Given the description of an element on the screen output the (x, y) to click on. 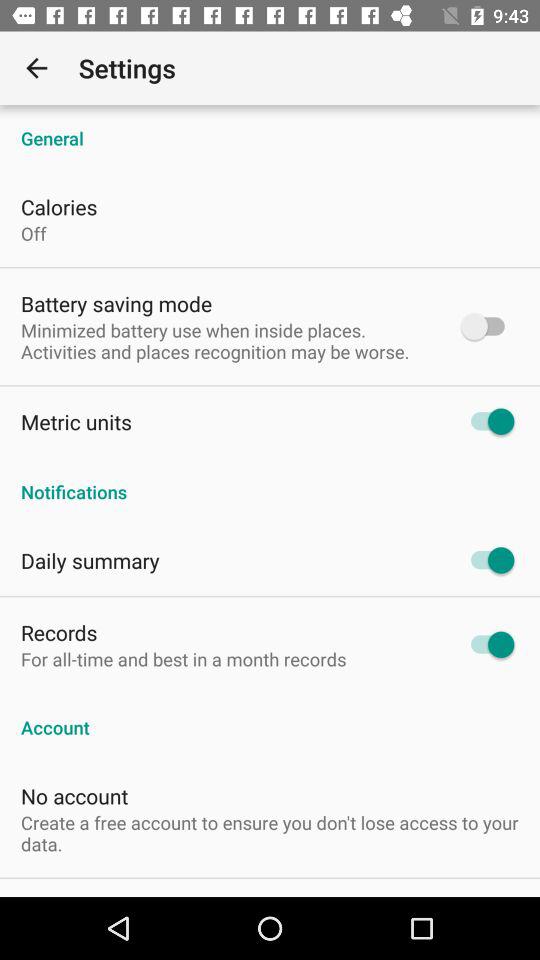
turn off item above general icon (36, 68)
